Given the description of an element on the screen output the (x, y) to click on. 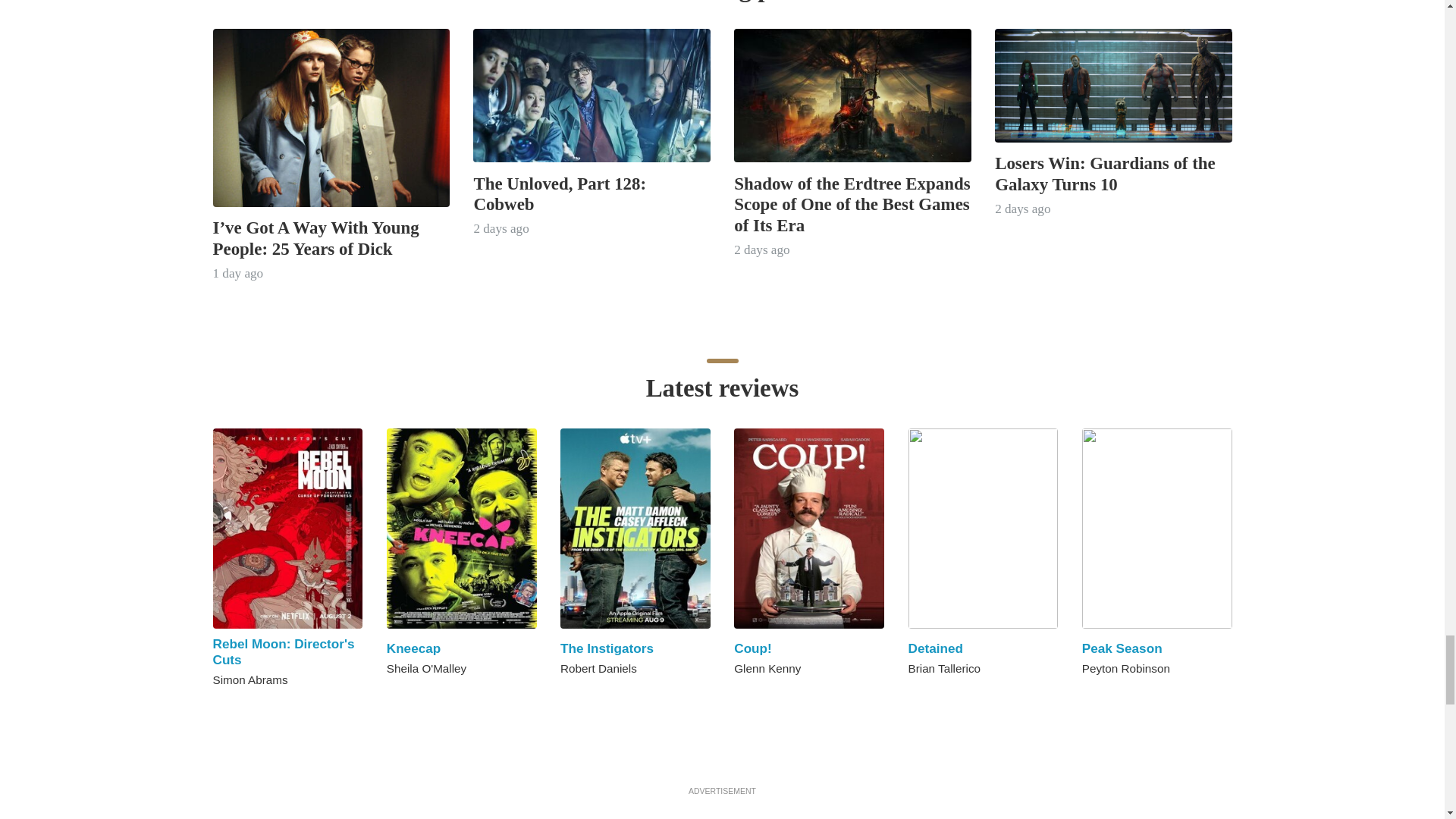
Rebel Moon: Director's Cuts (282, 651)
star-full (392, 695)
The Instigators (606, 648)
star-full (756, 695)
star-full (234, 707)
star-full (914, 695)
Kneecap (414, 648)
The Unloved, Part 128: Cobweb (559, 193)
star-full (424, 695)
Losers Win: Guardians of the Galaxy Turns 10 (1104, 173)
star-full (408, 695)
thumbsdown (566, 695)
Detained (935, 648)
star-full (739, 695)
star-full (218, 707)
